Given the description of an element on the screen output the (x, y) to click on. 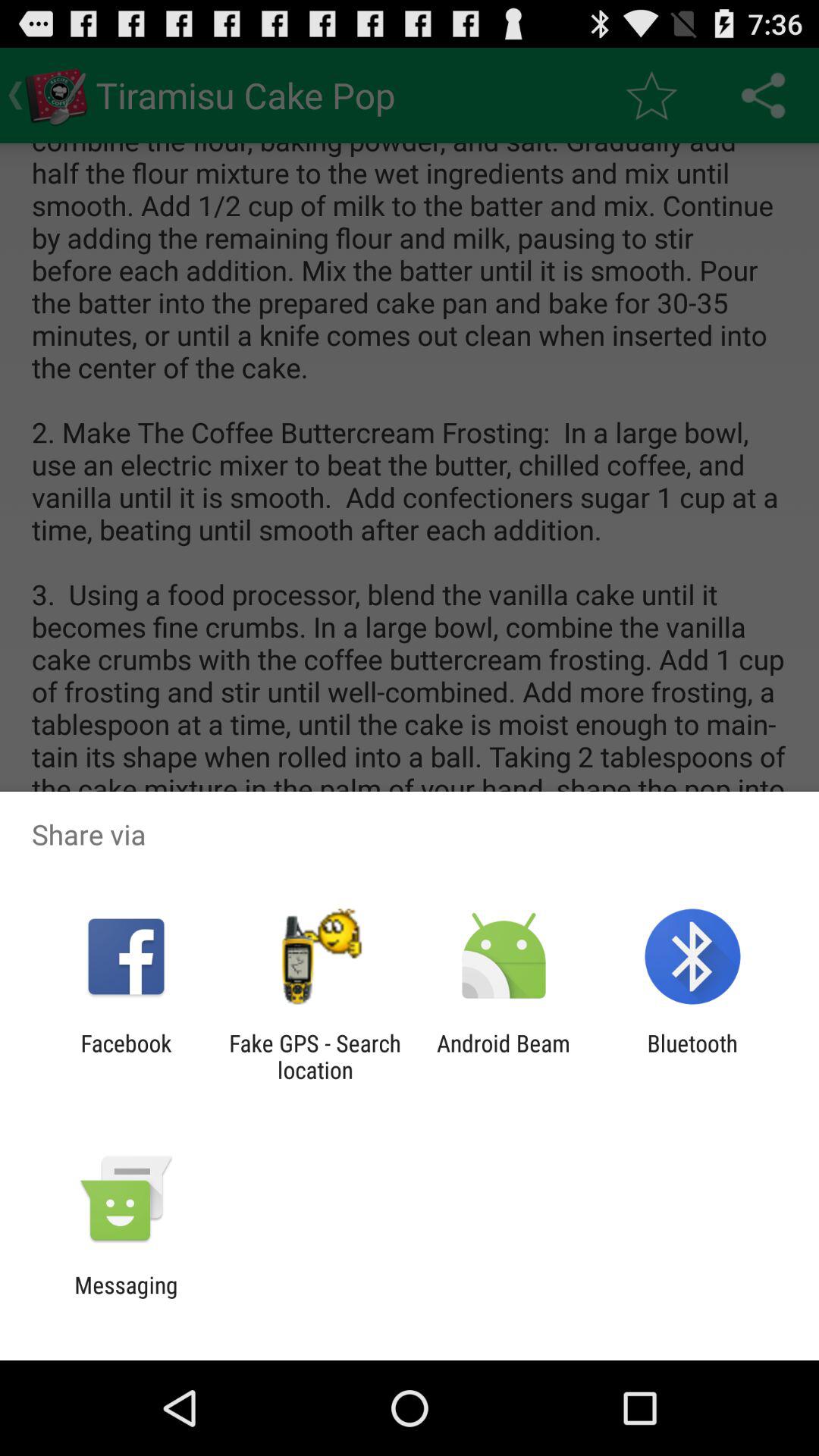
select the item next to the android beam (692, 1056)
